Given the description of an element on the screen output the (x, y) to click on. 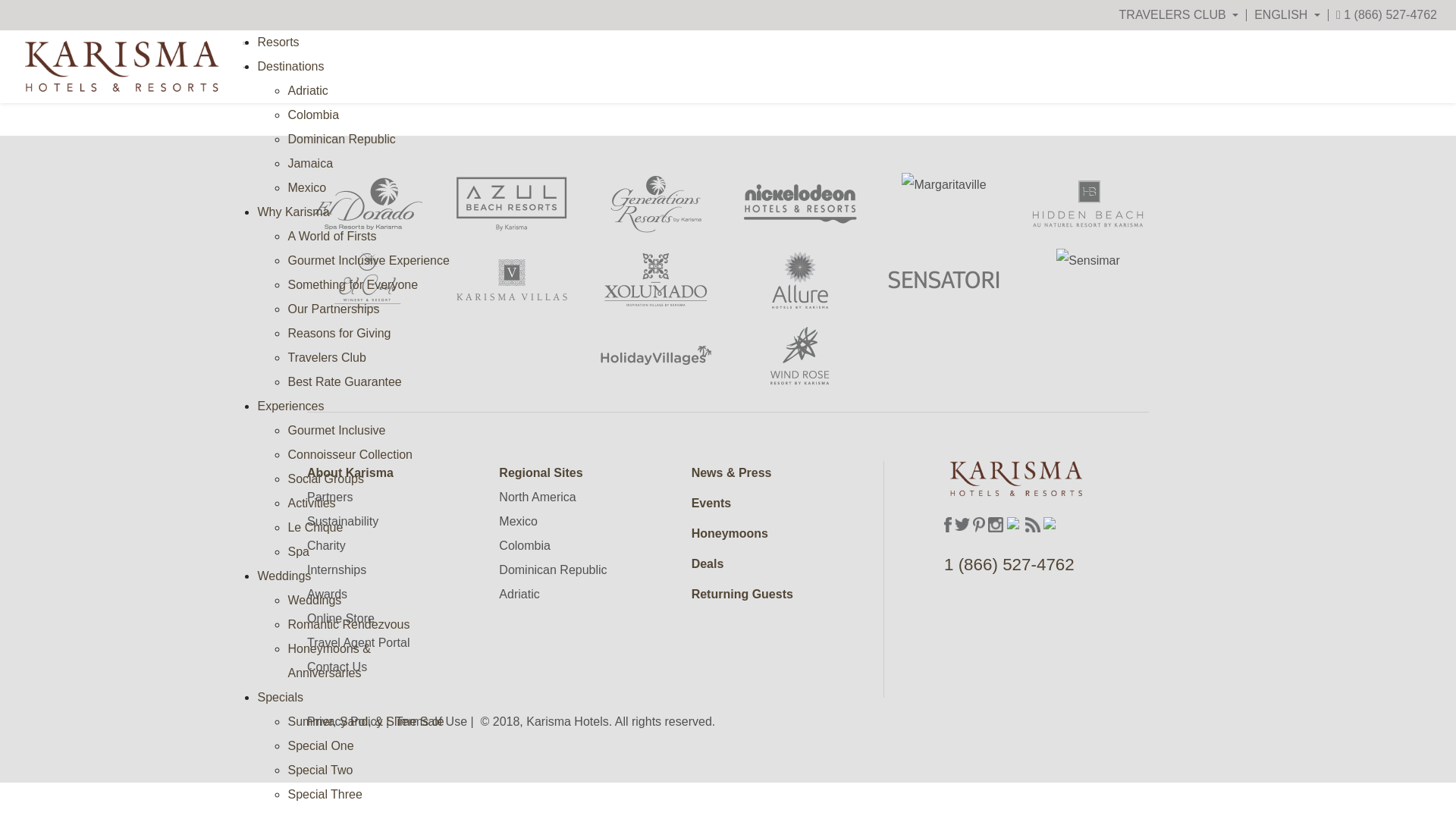
Gourmet Inclusive Experience (367, 259)
Best Rate Guarantee (343, 381)
Connoisseur Collection (349, 454)
Mexico (306, 187)
Weddings (284, 575)
Weddings (313, 599)
ENGLISH (1286, 15)
Romantic Rendezvous (347, 624)
Our Partnerships (332, 308)
A World of Firsts (330, 236)
Dominican Republic (340, 138)
Gourmet Inclusive (335, 430)
TRAVELERS CLUB (1179, 15)
Destinations (290, 65)
Social Groups (325, 478)
